Given the description of an element on the screen output the (x, y) to click on. 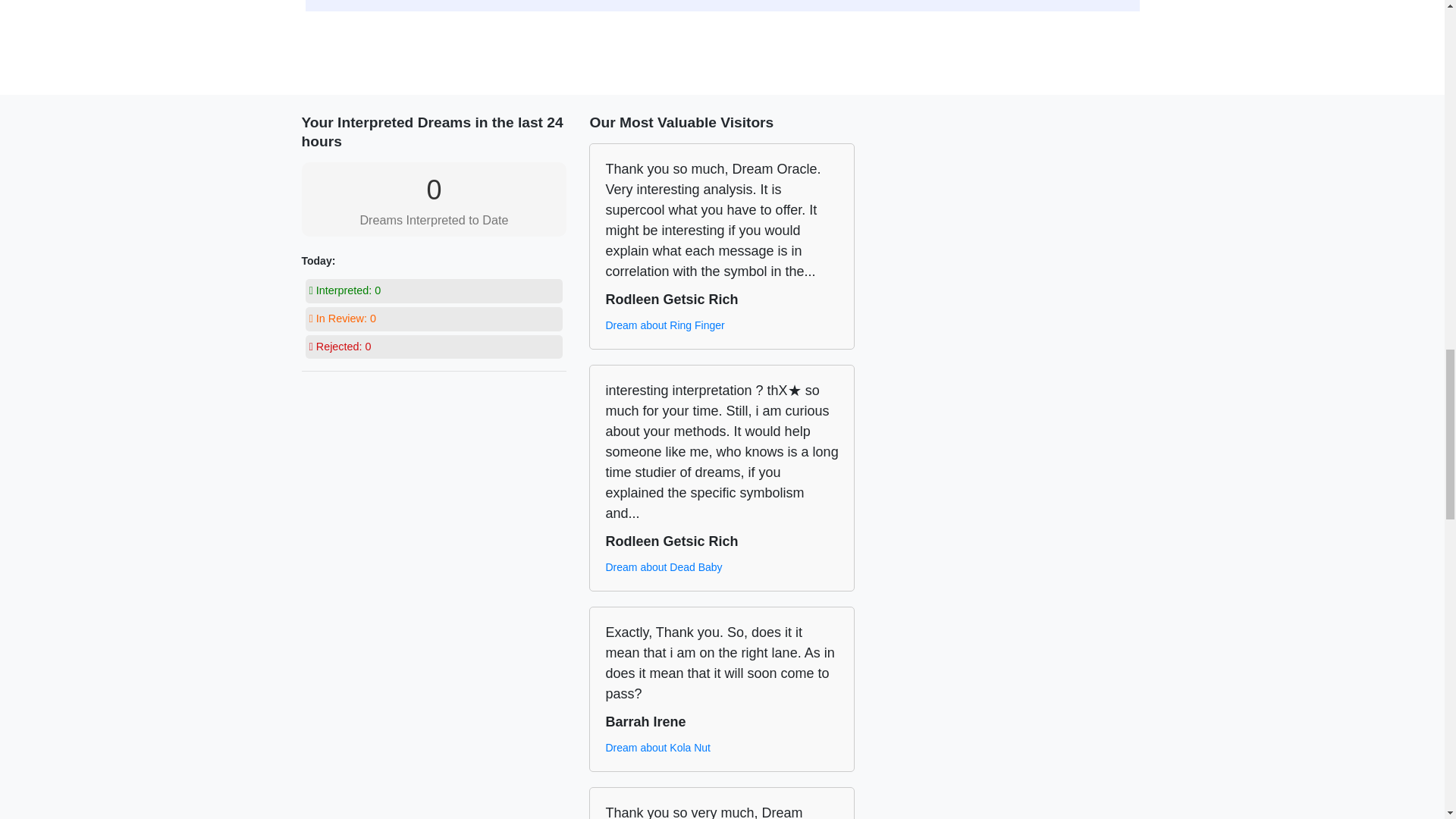
Dream about Kola Nut (657, 747)
Dream about Ring Finger (664, 325)
Dream about Dead Baby (663, 567)
